Given the description of an element on the screen output the (x, y) to click on. 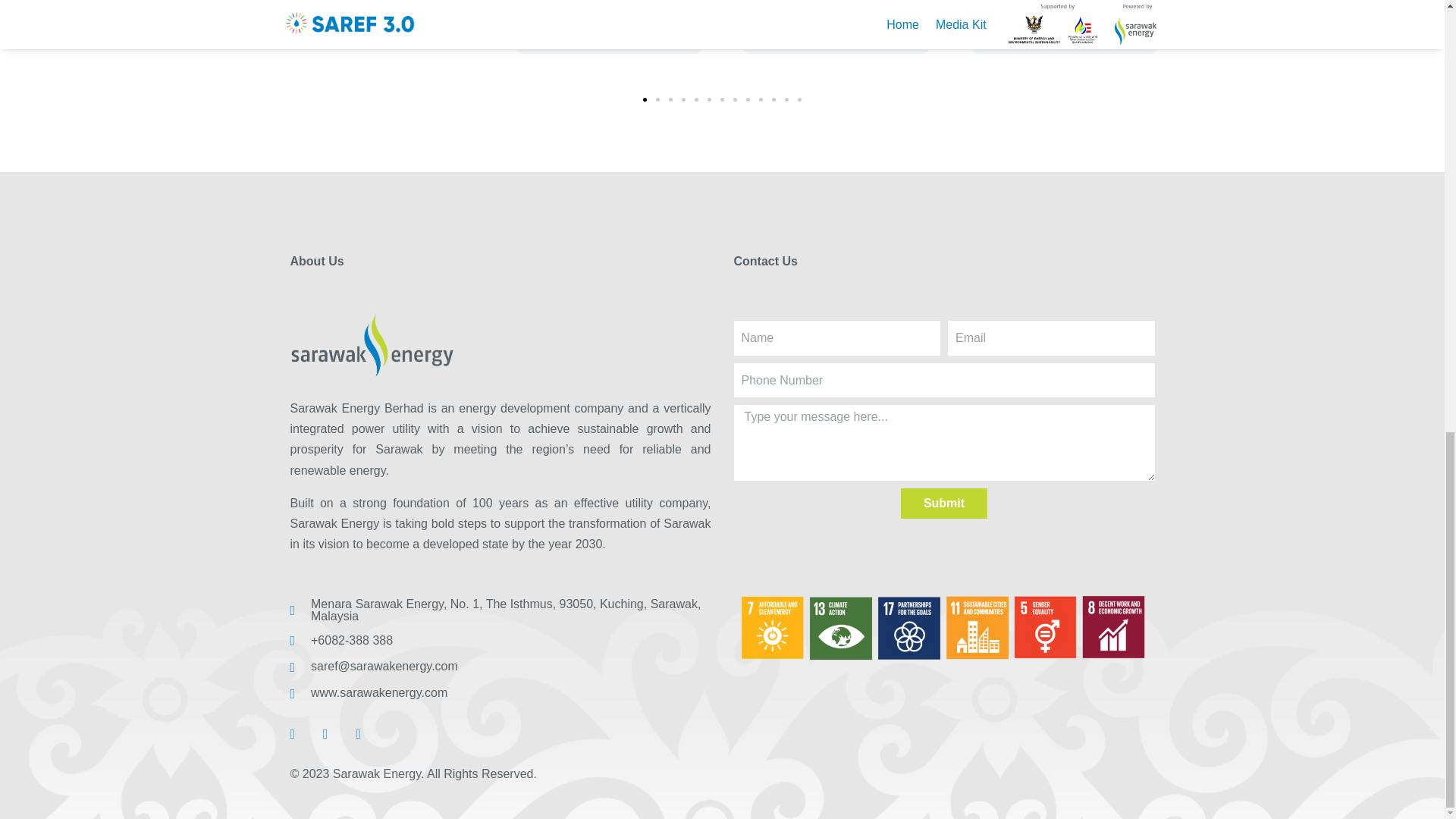
Submit (944, 503)
www.sarawakenergy.com (499, 693)
